Given the description of an element on the screen output the (x, y) to click on. 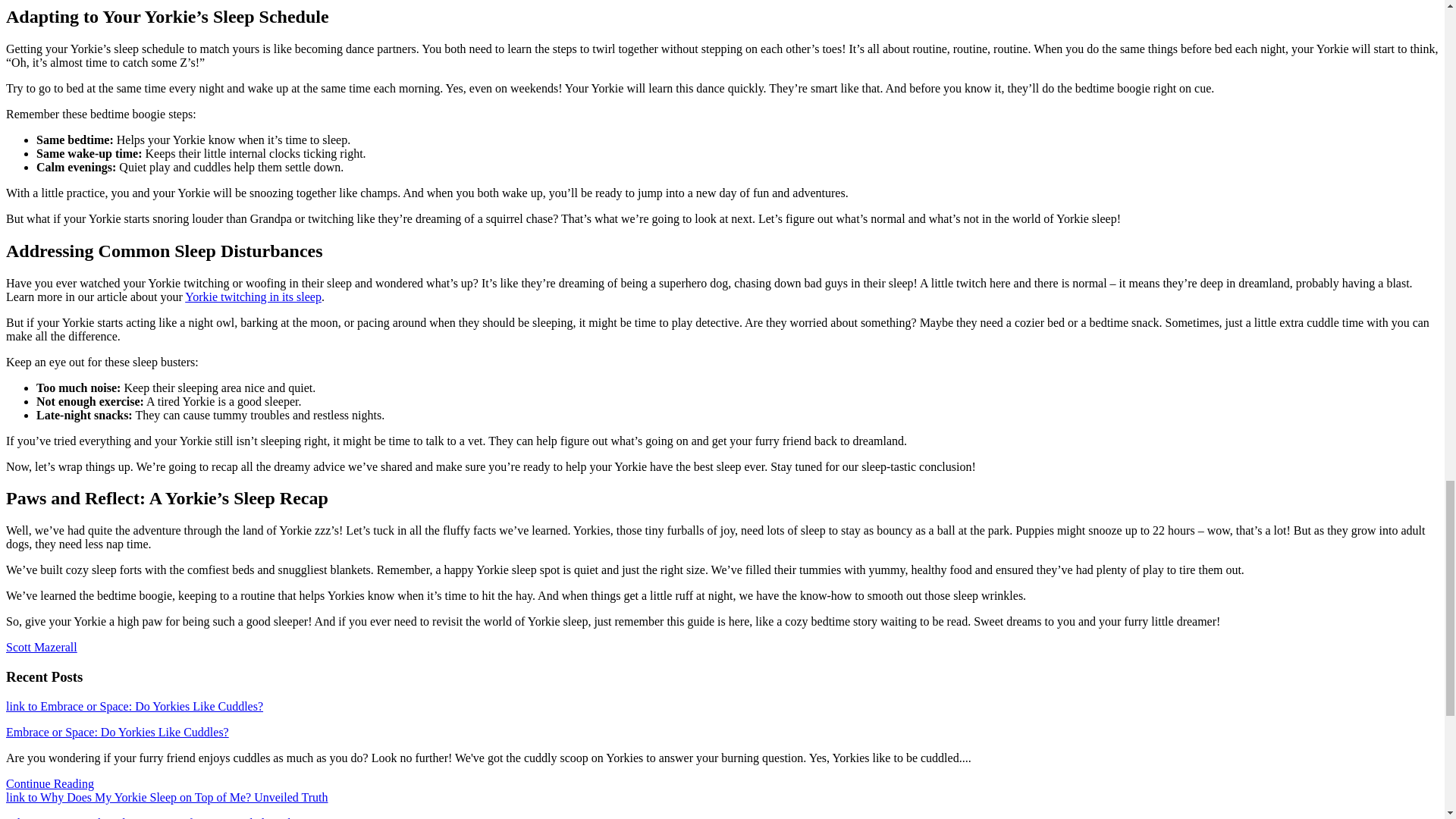
Scott Mazerall (41, 646)
Continue Reading (49, 783)
Yorkie twitching in its sleep (252, 295)
Embrace or Space: Do Yorkies Like Cuddles? (116, 731)
